Given the description of an element on the screen output the (x, y) to click on. 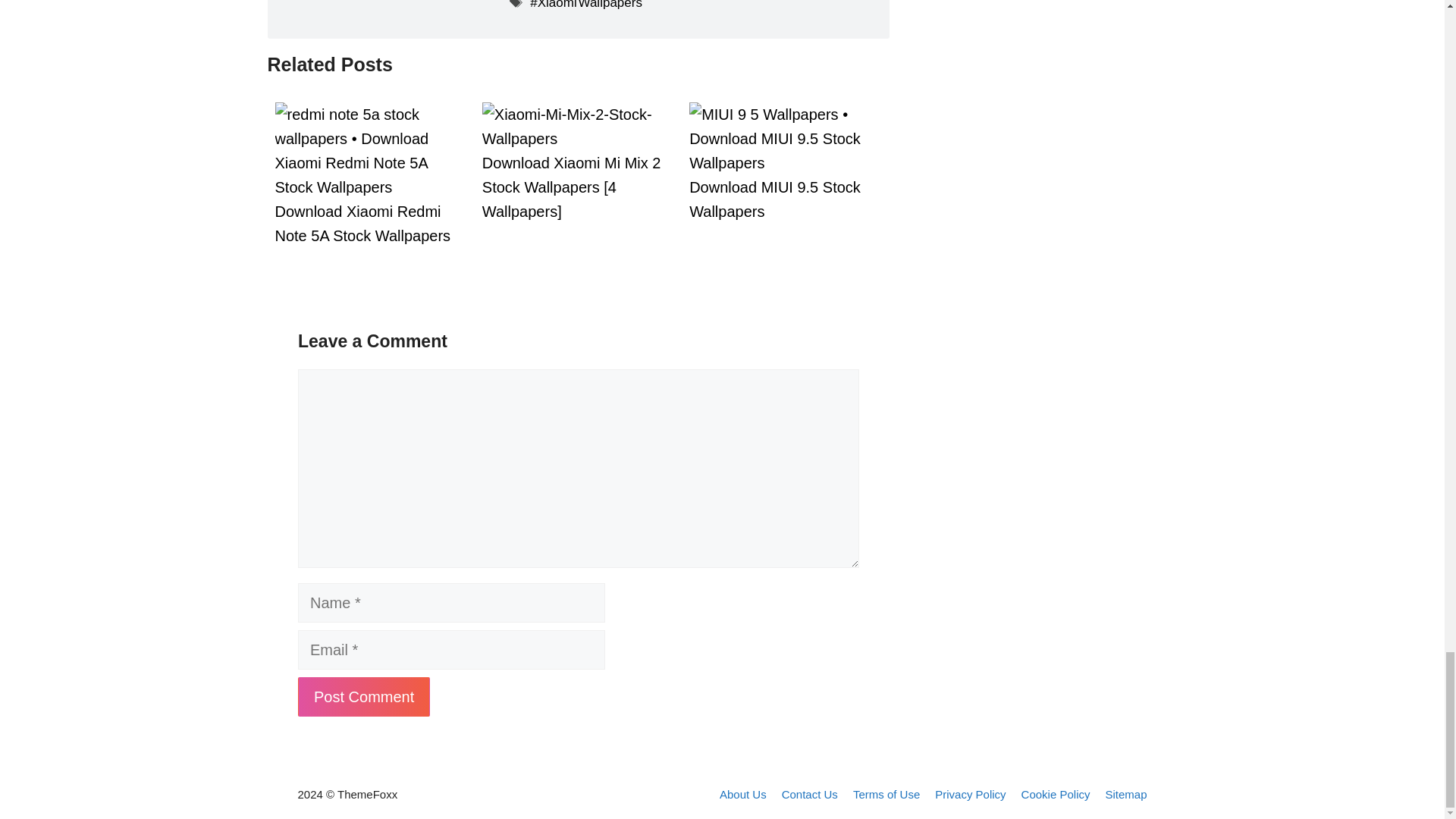
Xiaomi Wallpapers (585, 4)
